Given the description of an element on the screen output the (x, y) to click on. 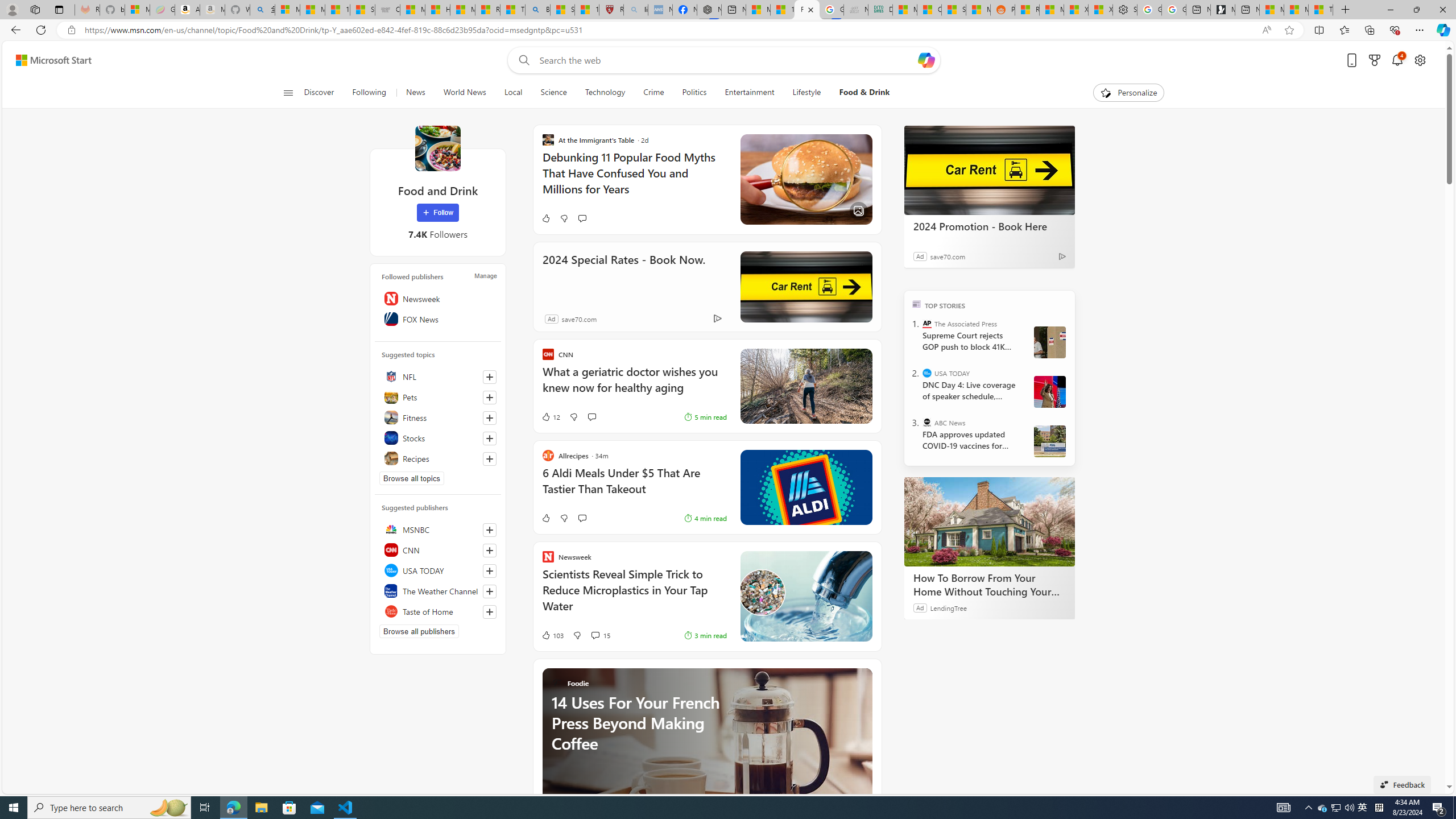
12 Popular Science Lies that Must be Corrected (586, 9)
Food & Drink (863, 92)
Follow this source (489, 612)
Taste of Home (437, 610)
Bing (536, 9)
